Given the description of an element on the screen output the (x, y) to click on. 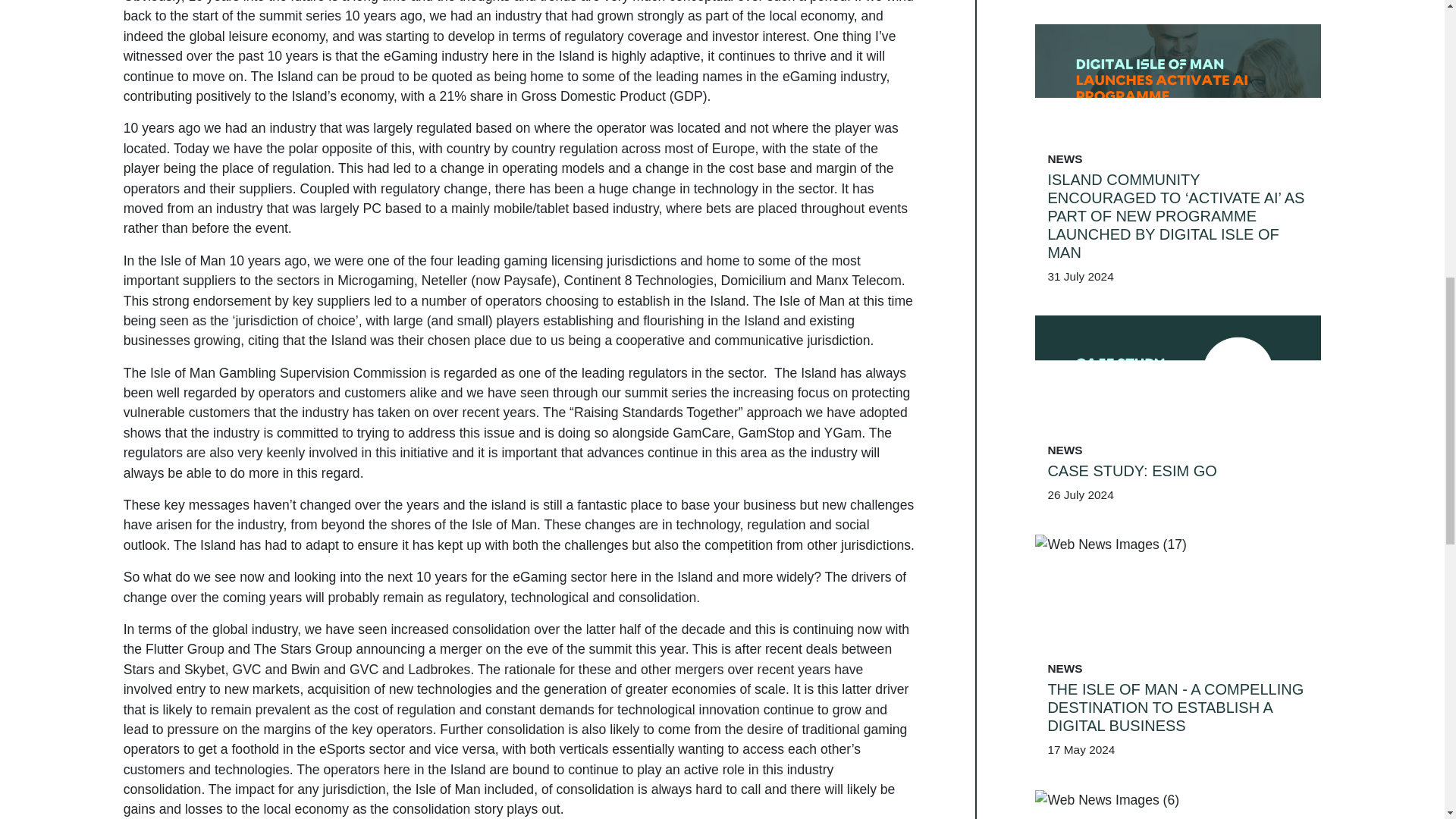
CASE STUDY: ESIM GO (1177, 243)
CASE STUDY: J-CAT GAMES (1177, 717)
